Given the description of an element on the screen output the (x, y) to click on. 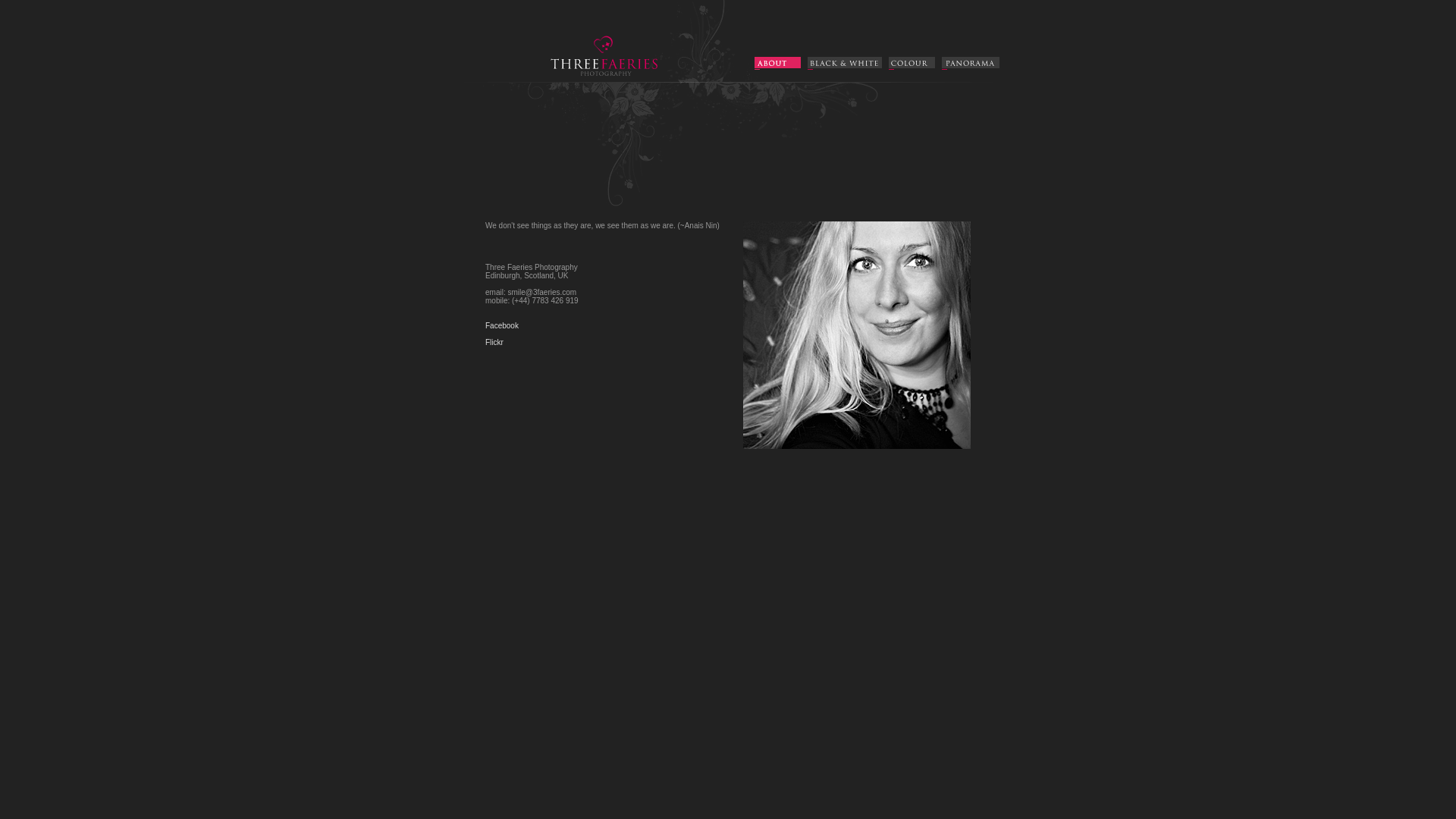
Three Faeries : Aleksandra Gruszczynska Photography Element type: hover (597, 79)
Facebook Element type: text (501, 325)
Flickr Element type: text (494, 342)
